Given the description of an element on the screen output the (x, y) to click on. 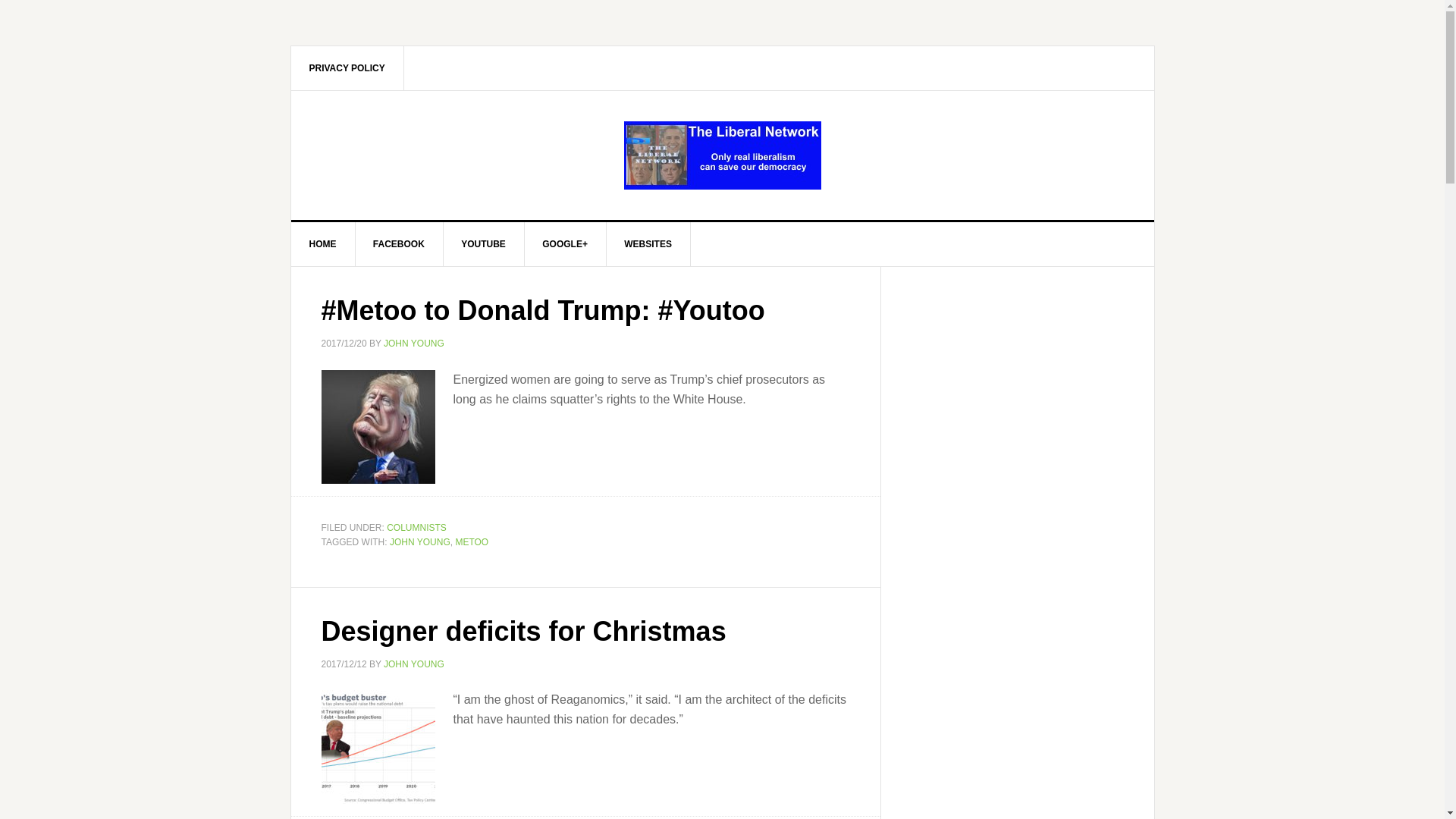
PRIVACY POLICY (347, 67)
THE LIBERAL NETWORK (722, 155)
JOHN YOUNG (414, 663)
JOHN YOUNG (419, 542)
HOME (323, 243)
Designer deficits for Christmas (523, 631)
YOUTUBE (483, 243)
COLUMNISTS (416, 526)
WEBSITES (647, 243)
METOO (470, 542)
